Given the description of an element on the screen output the (x, y) to click on. 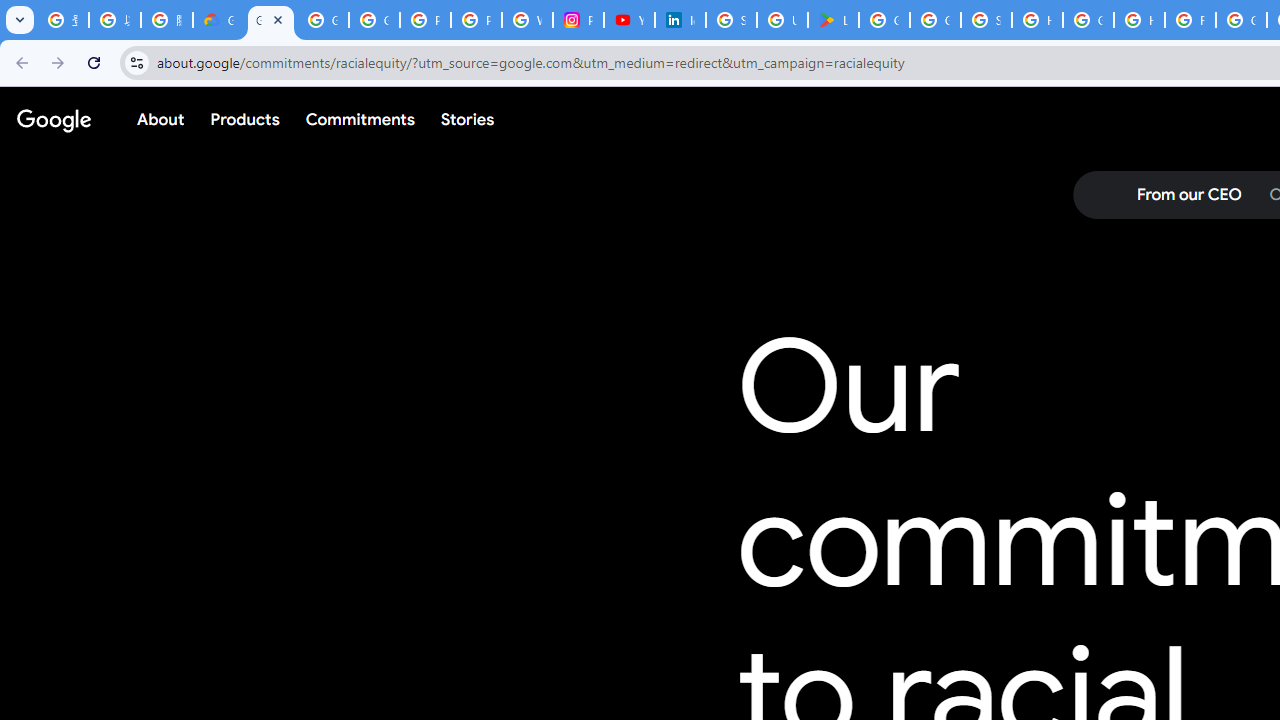
About (161, 119)
YouTube Culture & Trends - On The Rise: Handcam Videos (629, 20)
